Given the description of an element on the screen output the (x, y) to click on. 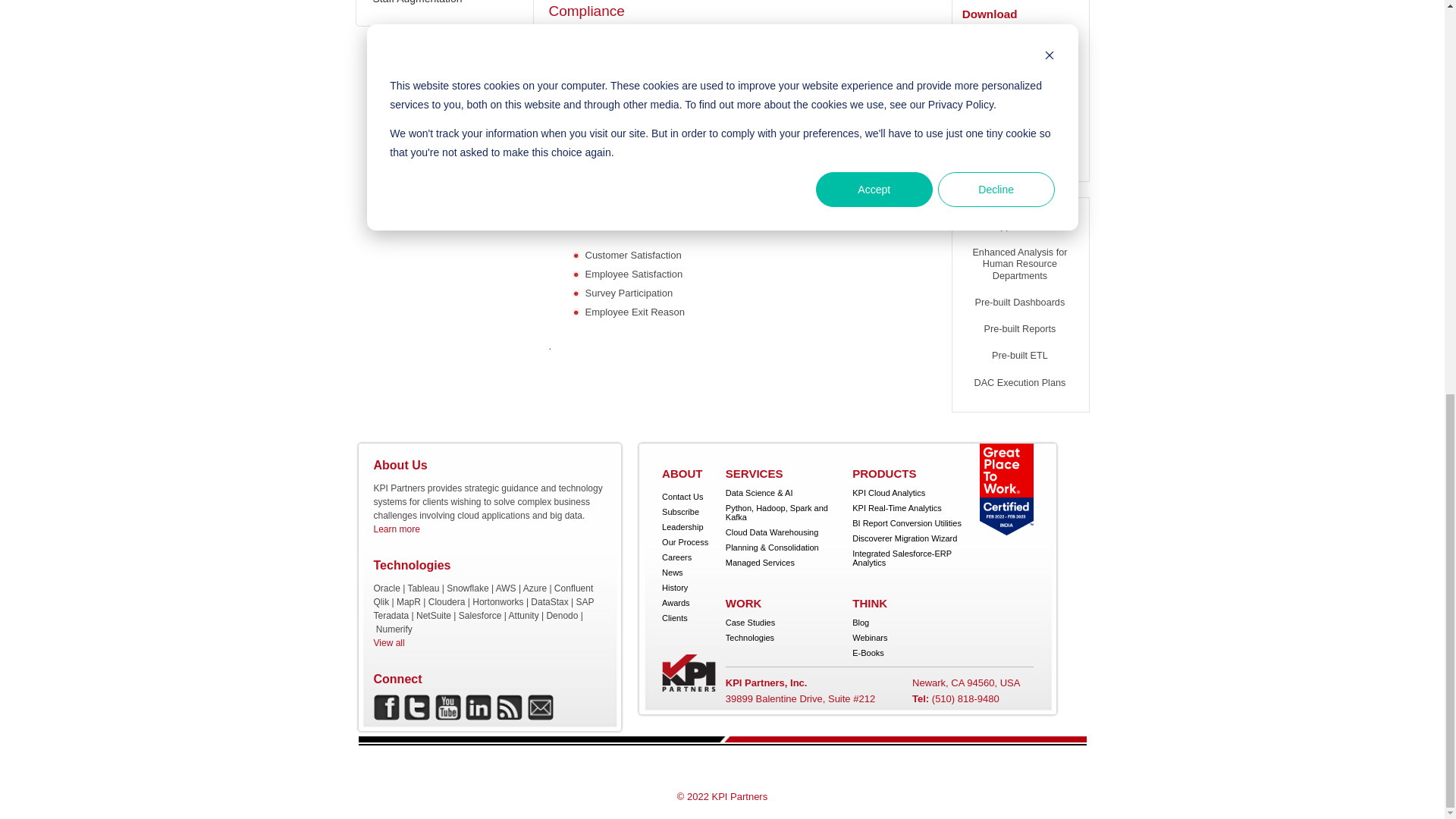
KPI Partners Great Place to Work Certified (1006, 489)
